Given the description of an element on the screen output the (x, y) to click on. 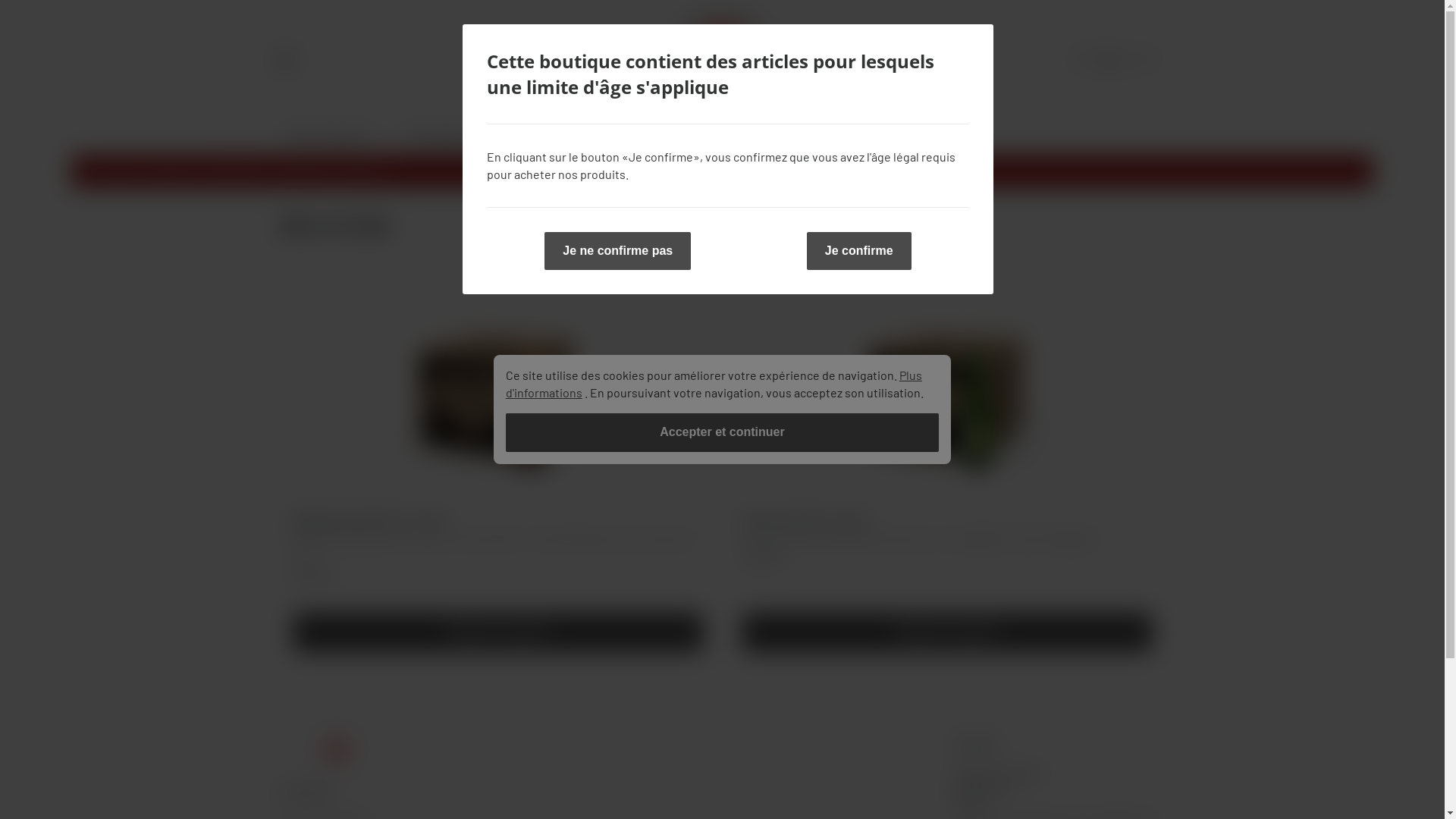
Colis cadeaux Element type: text (438, 136)
Autres Element type: text (565, 136)
(0) Element type: text (1110, 59)
Plus d'informations Element type: text (713, 382)
Je ne confirme pas Element type: text (617, 250)
Je confirme Element type: text (858, 250)
Textile Element type: text (510, 136)
Ajouter au panier Element type: text (946, 632)
Ajouter au panier Element type: text (497, 632)
Accepter et continuer Element type: text (722, 432)
